Given the description of an element on the screen output the (x, y) to click on. 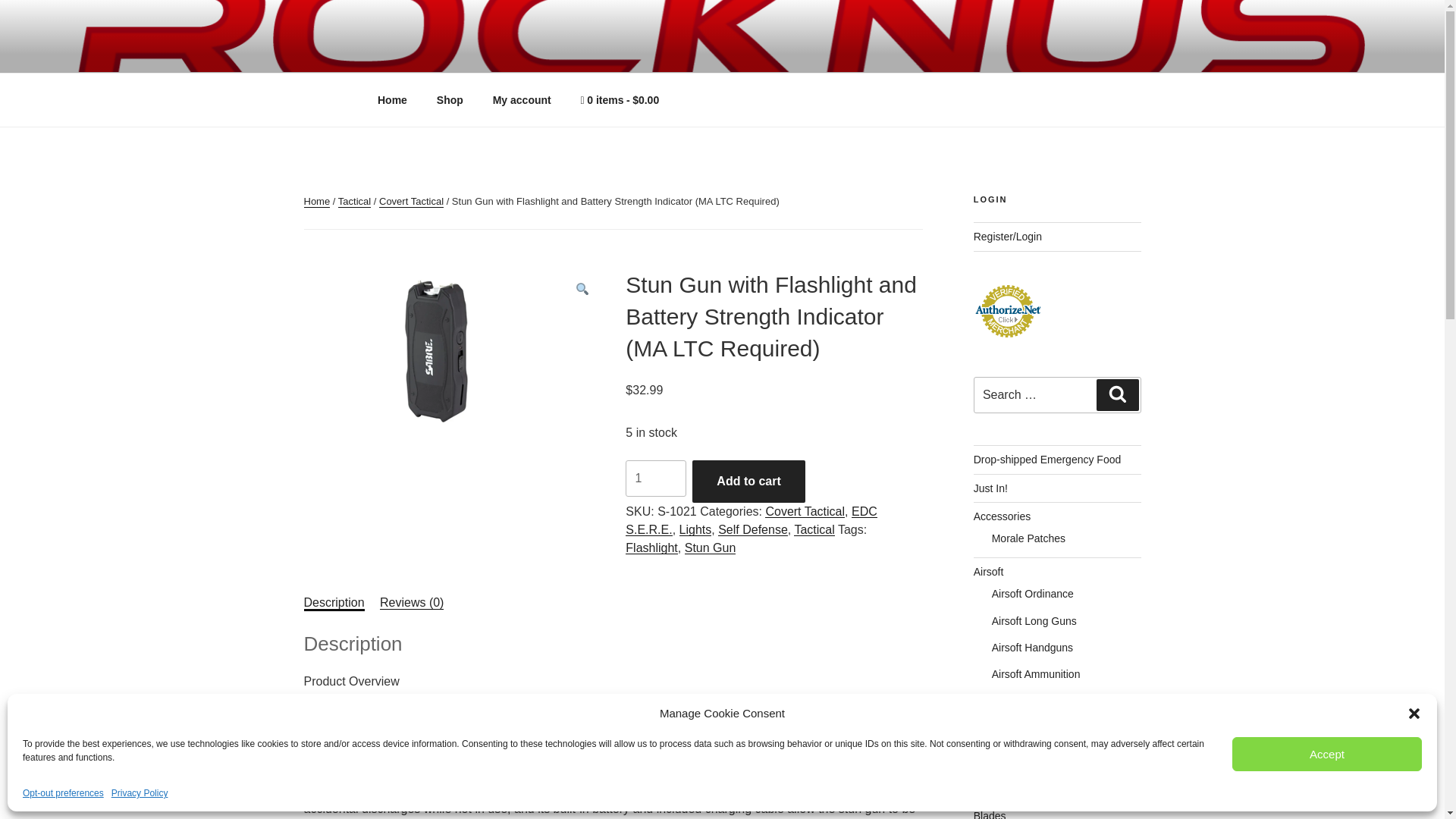
Accept (1326, 754)
My account (521, 99)
Home (316, 201)
Shop (449, 99)
Home (392, 99)
Start shopping (619, 99)
Opt-out preferences (63, 793)
Privacy Policy (140, 793)
EDC S.E.R.E. (751, 520)
Tactical (813, 529)
Description (333, 602)
Flashlight (651, 547)
Lights (695, 529)
Tactical (354, 201)
1 (655, 478)
